Given the description of an element on the screen output the (x, y) to click on. 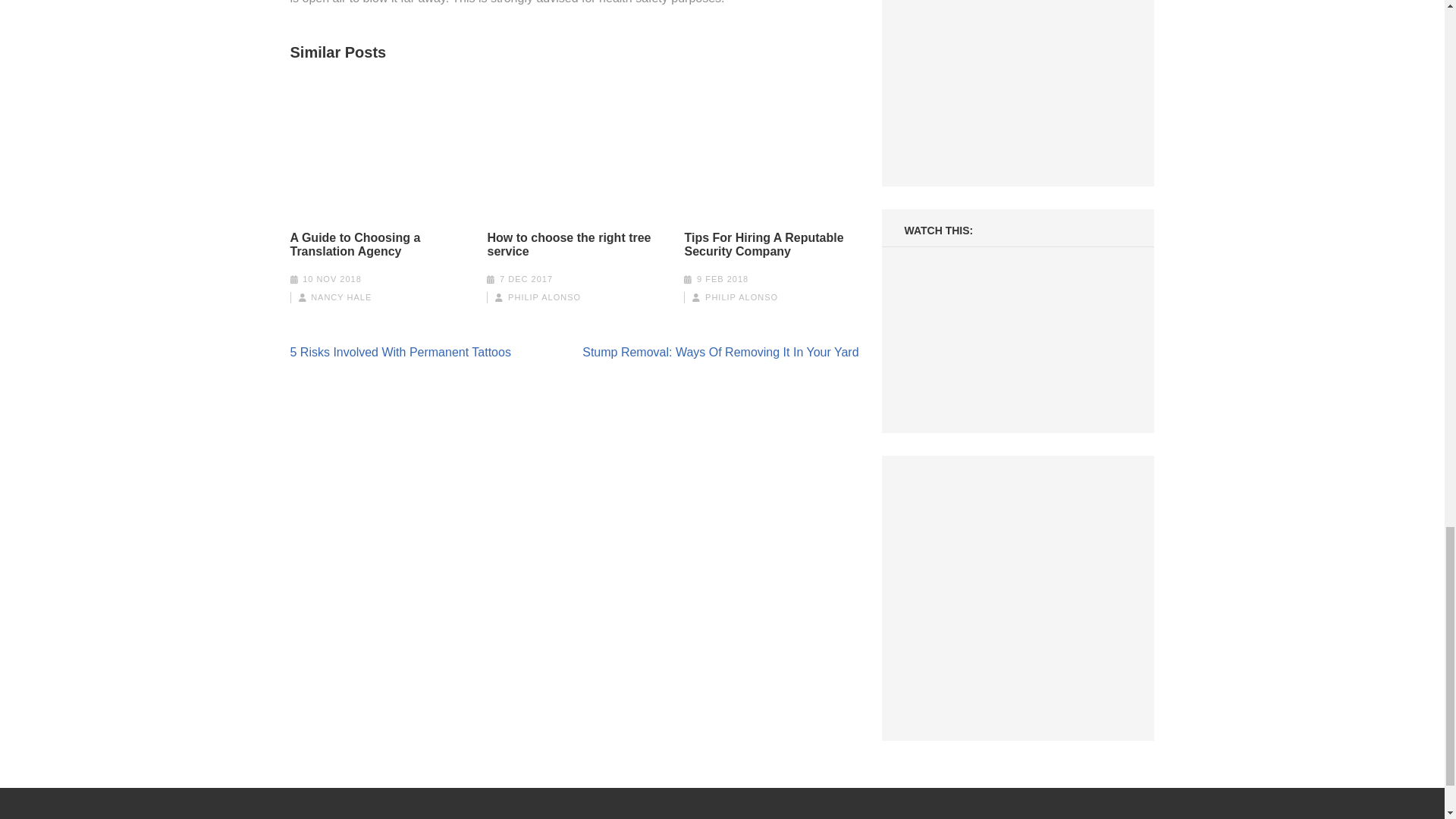
PHILIP ALONSO (740, 297)
Tips For Hiring A Reputable Security Company (771, 244)
9 FEB 2018 (722, 278)
10 NOV 2018 (331, 278)
How to choose the right tree service (573, 244)
A Guide to Choosing a Translation Agency (376, 244)
5 Risks Involved With Permanent Tattoos (400, 351)
Stump Removal: Ways Of Removing It In Your Yard (720, 351)
7 DEC 2017 (526, 278)
PHILIP ALONSO (544, 297)
